Given the description of an element on the screen output the (x, y) to click on. 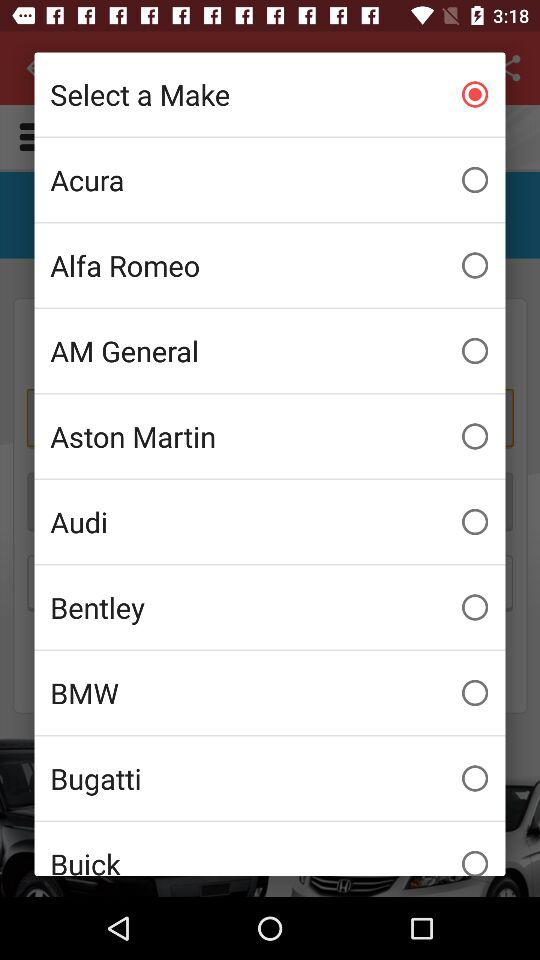
launch the select a make item (269, 94)
